Given the description of an element on the screen output the (x, y) to click on. 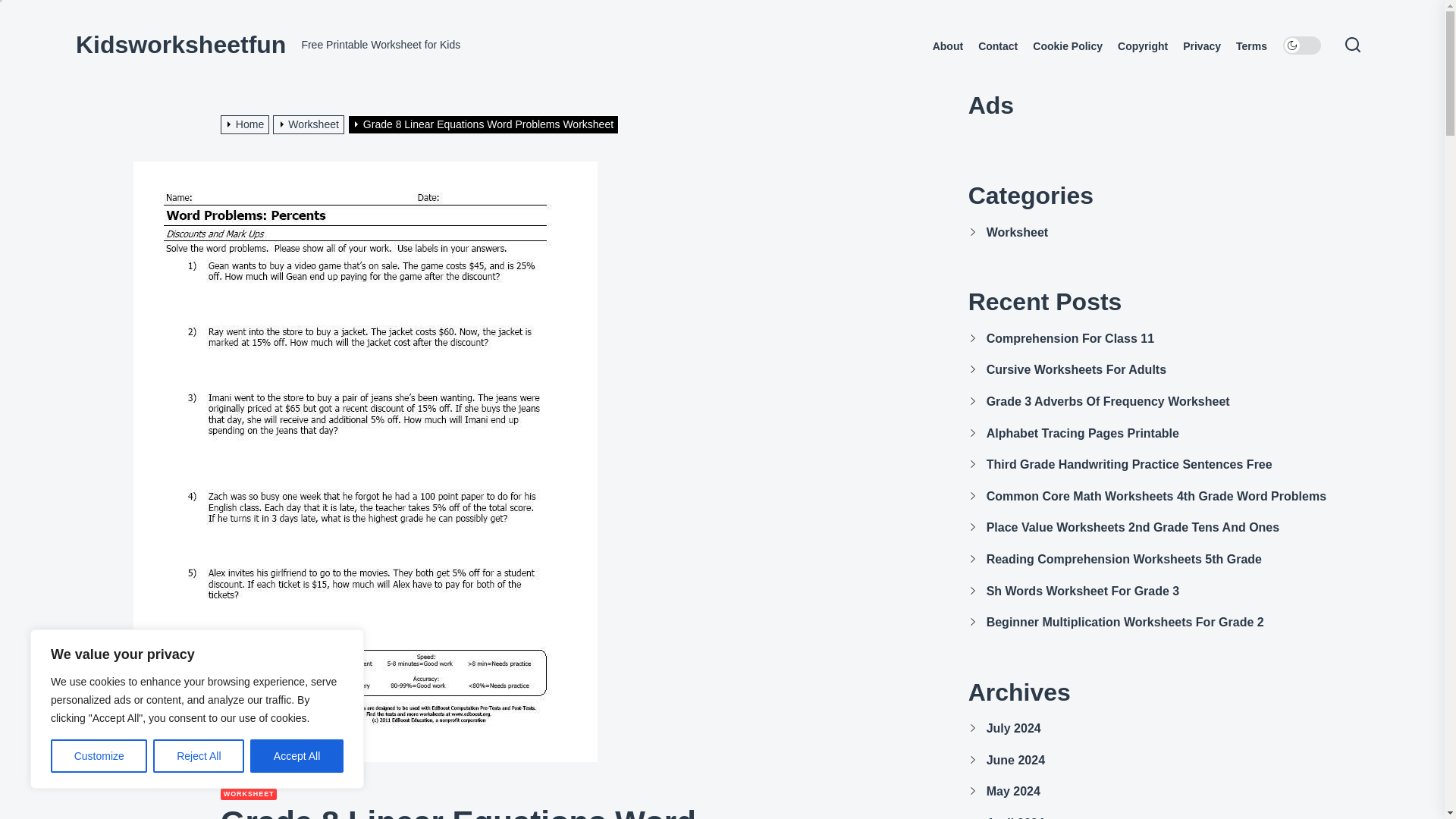
Kidsworksheetfun (180, 44)
Cookie Policy (1067, 46)
Terms (1251, 46)
Worksheet (310, 123)
Reject All (198, 756)
Accept All (296, 756)
Customize (98, 756)
Privacy (1201, 46)
Home (247, 123)
WORKSHEET (249, 794)
About (947, 46)
Contact (997, 46)
Grade 8 Linear Equations Word Problems Worksheet (485, 123)
Copyright (1142, 46)
